Given the description of an element on the screen output the (x, y) to click on. 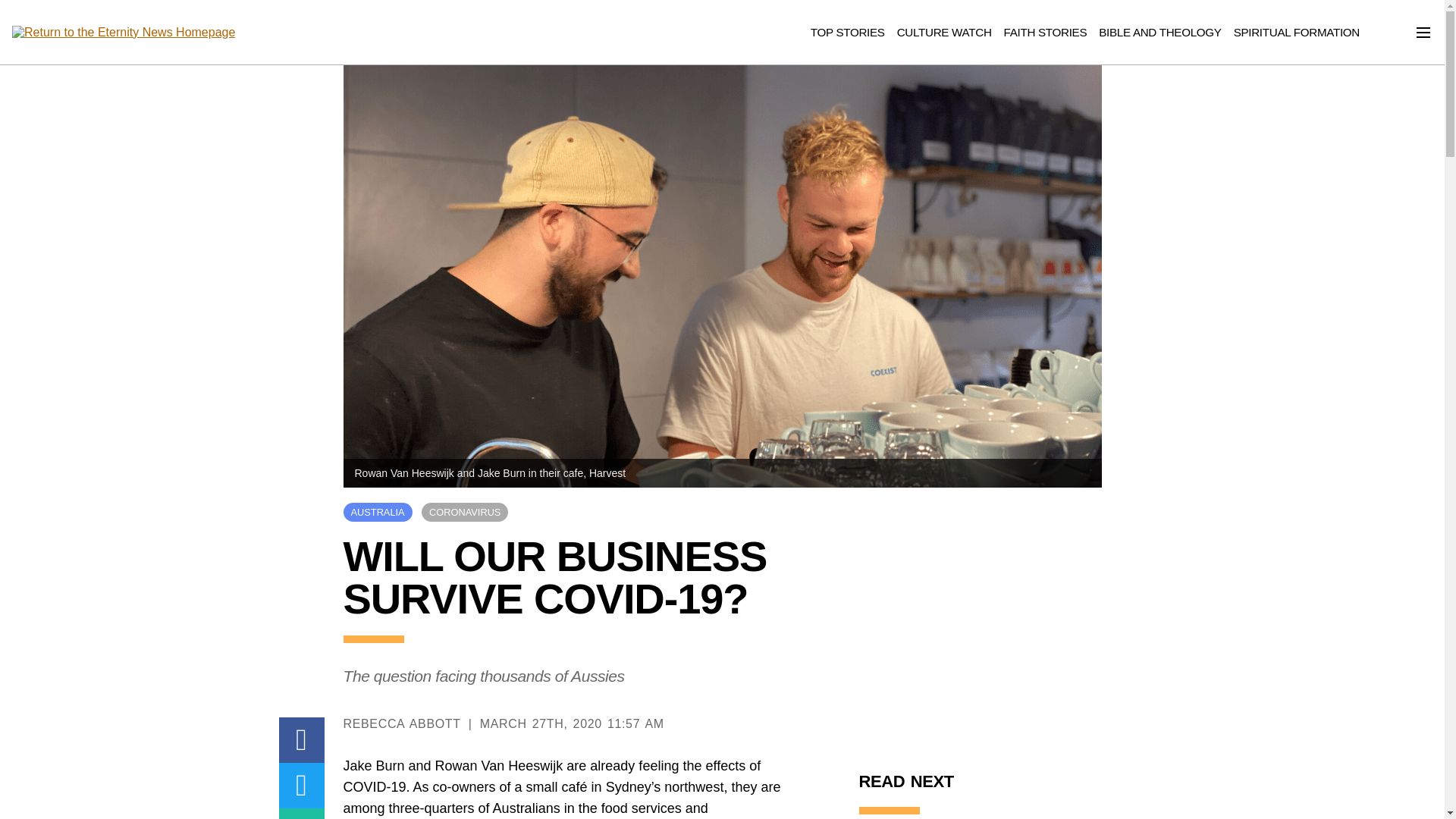
AUSTRALIA (377, 511)
Share via WhatsApp (301, 813)
REBECCA ABBOTT (401, 723)
BIBLE AND THEOLOGY (1160, 32)
Share on Facebook (301, 739)
TOP STORIES (847, 32)
Share on Twitter (301, 785)
CULTURE WATCH (943, 32)
CORONAVIRUS (465, 511)
FAITH STORIES (1045, 32)
